Given the description of an element on the screen output the (x, y) to click on. 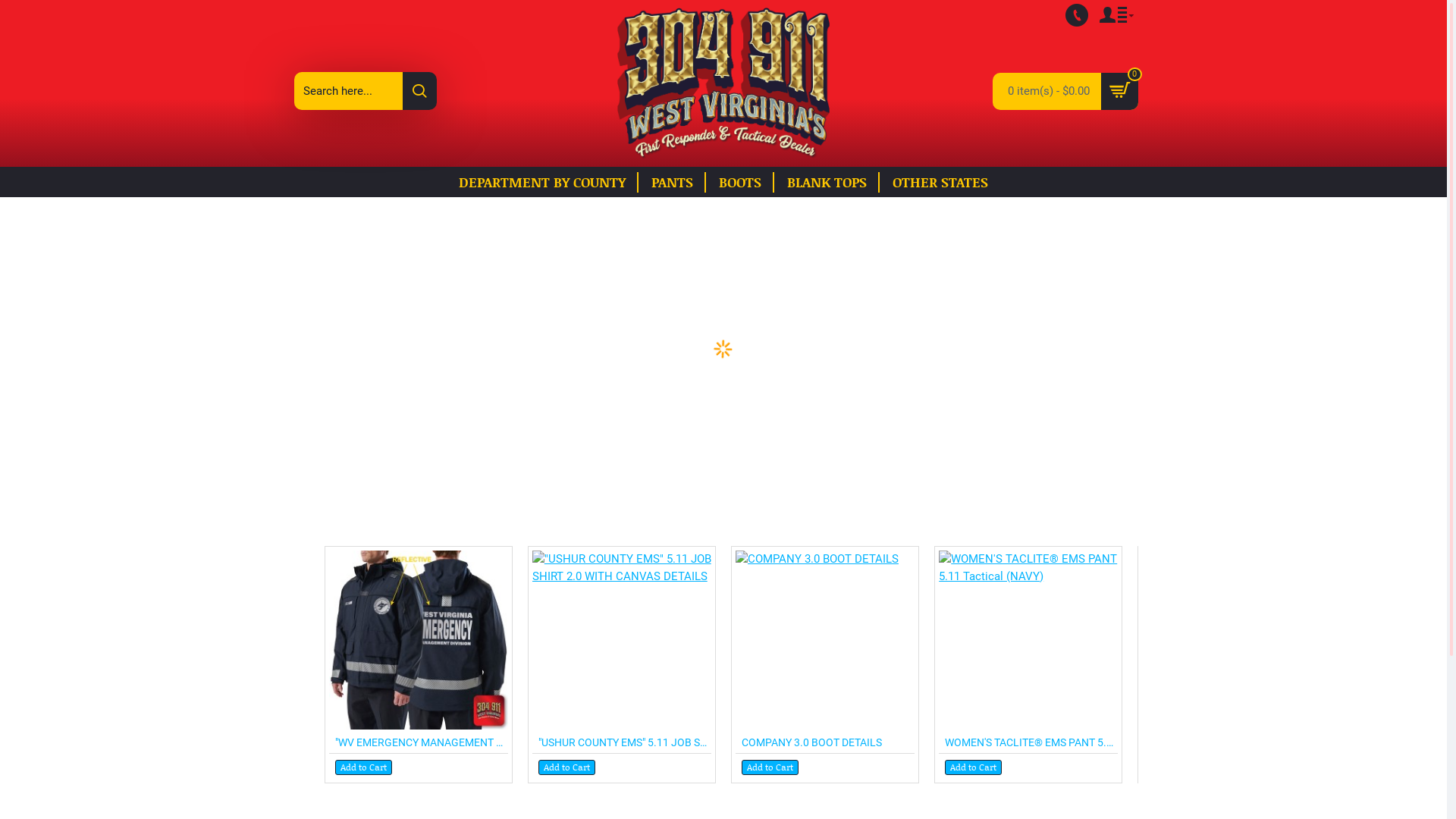
Add to Cart Element type: text (769, 767)
0 item(s) - $0.00
0 Element type: text (1064, 90)
"USHUR COUNTY EMS" 5.11 JOB SHIRT 2.0 WITH CANVAS DETAILS Element type: hover (621, 639)
OTHER STATES Element type: text (939, 182)
Add to Cart Element type: text (566, 767)
COMPANY 3.0 BOOT DETAILS Element type: text (811, 742)
PANTS Element type: text (678, 182)
"USHUR COUNTY EMS" 5.11 JOB SHIRT 2.0 WITH CANVAS DETAILS Element type: text (624, 742)
Add to Cart Element type: text (363, 767)
COMPANY 3.0 BOOT DETAILS Element type: hover (824, 639)
BOOTS Element type: text (746, 182)
DEPARTMENT BY COUNTY Element type: text (548, 182)
Add to Cart Element type: text (972, 767)
BLANK TOPS Element type: text (833, 182)
